Given the description of an element on the screen output the (x, y) to click on. 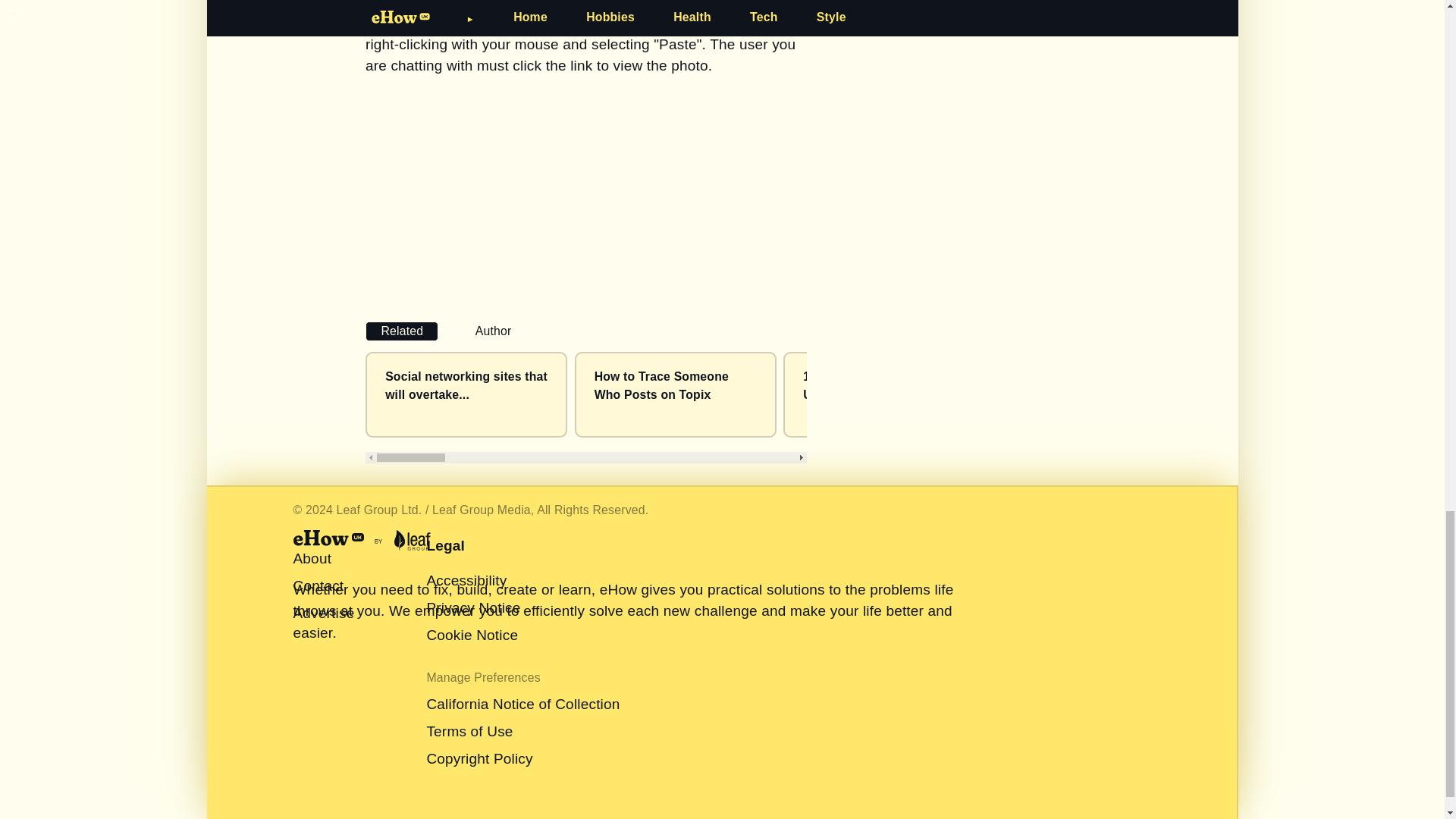
Manage Preferences (483, 676)
Cookie Notice (472, 634)
Advertise (322, 612)
Accessibility (466, 580)
How to Trace Someone Who Posts on Topix (661, 385)
Terms of Use (469, 731)
Contact (317, 585)
Copyright Policy (479, 758)
About (311, 558)
Privacy Notice (472, 607)
10 Ways to Communicate Using the Internet (876, 385)
Social networking sites that will overtake... (466, 385)
California Notice of Collection (523, 703)
